Given the description of an element on the screen output the (x, y) to click on. 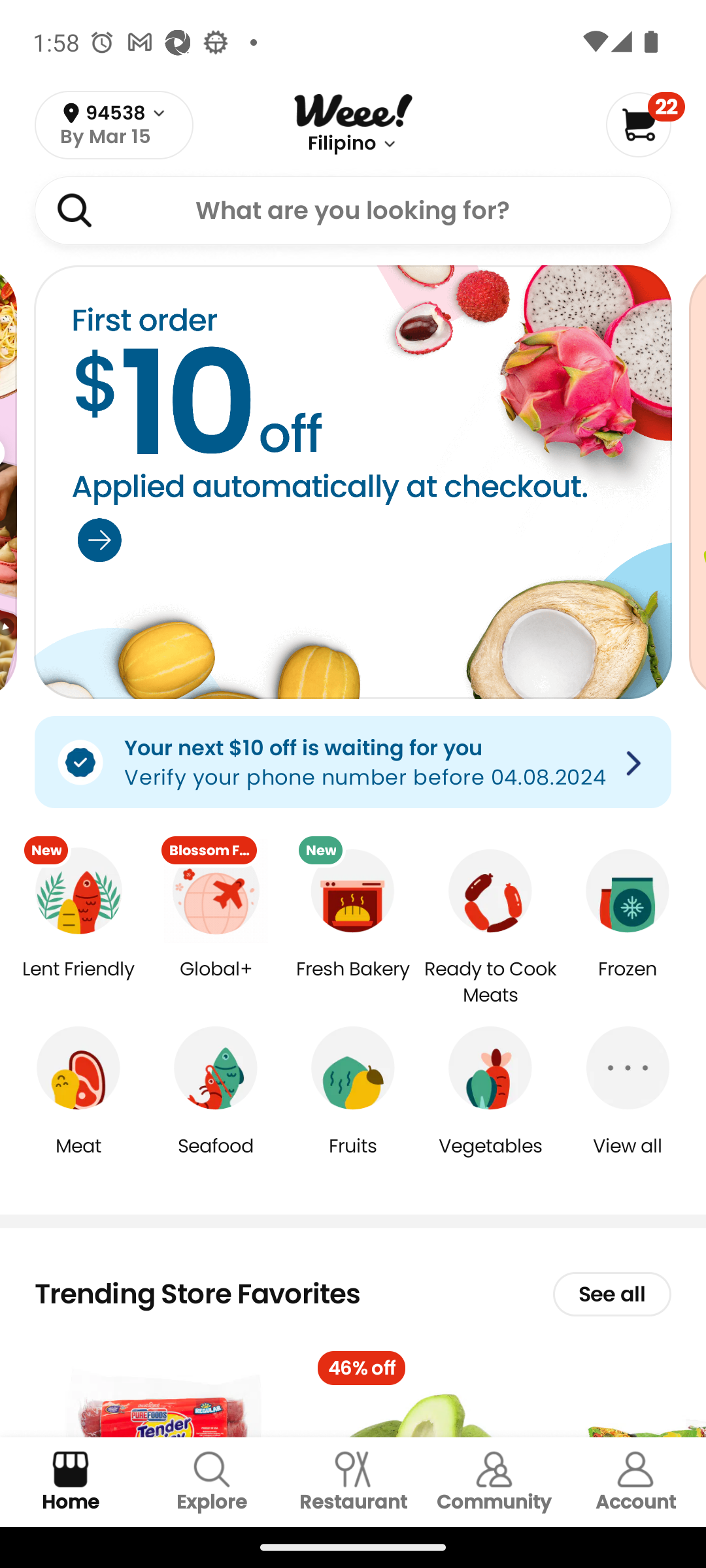
94538 By Mar 15 (113, 124)
22 (644, 124)
Filipino (341, 143)
What are you looking for? (352, 209)
Lent Friendly (77, 982)
Global+ (215, 982)
Fresh Bakery (352, 982)
Ready to Cook Meats (490, 982)
Frozen (627, 982)
Meat (77, 1159)
Seafood (215, 1159)
Fruits (352, 1159)
Vegetables (490, 1159)
View all (627, 1159)
Home (70, 1482)
Explore (211, 1482)
Restaurant (352, 1482)
Community (493, 1482)
Account (635, 1482)
